Given the description of an element on the screen output the (x, y) to click on. 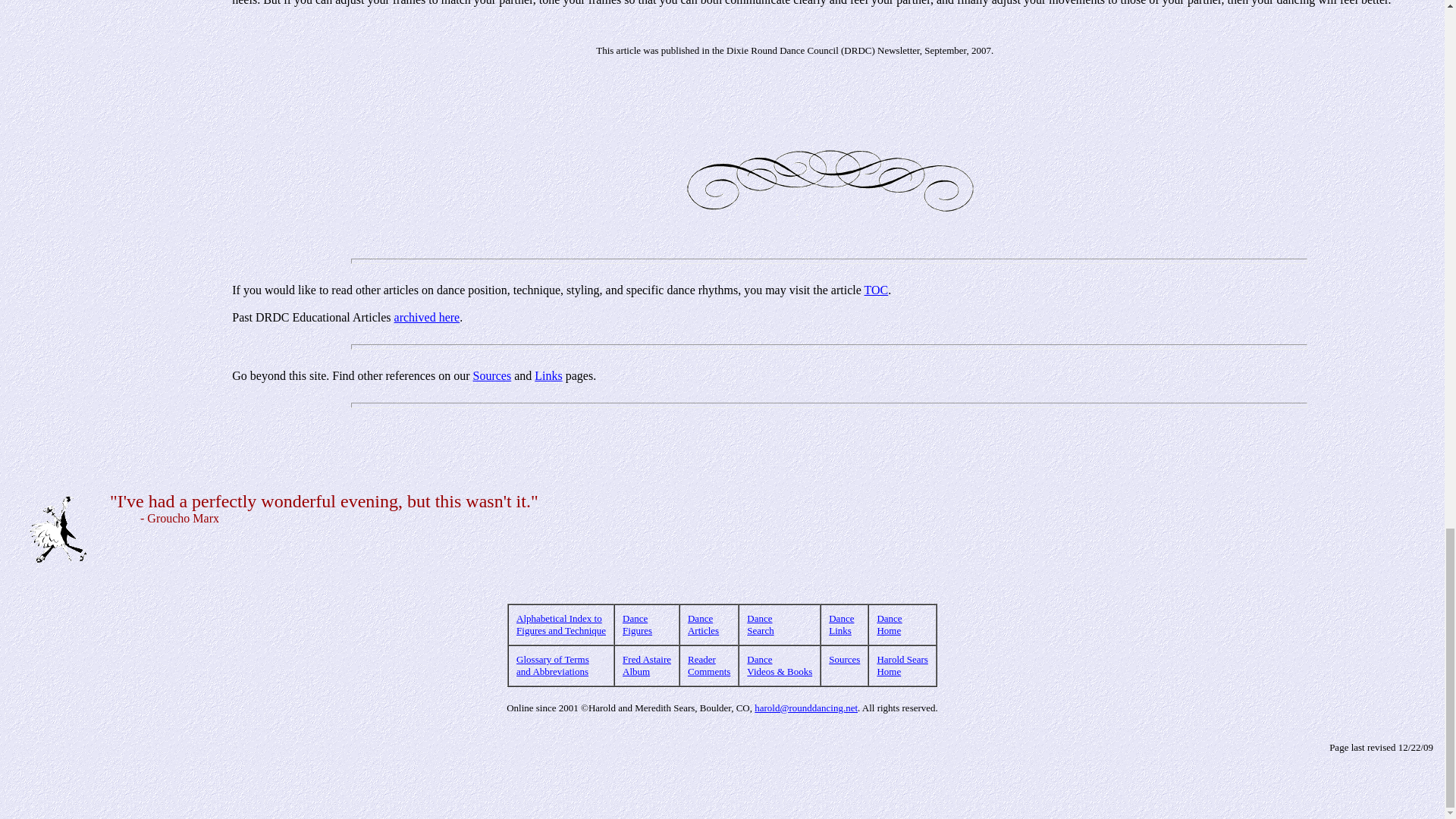
Educational Articles, Table Of Contents (876, 289)
